Given the description of an element on the screen output the (x, y) to click on. 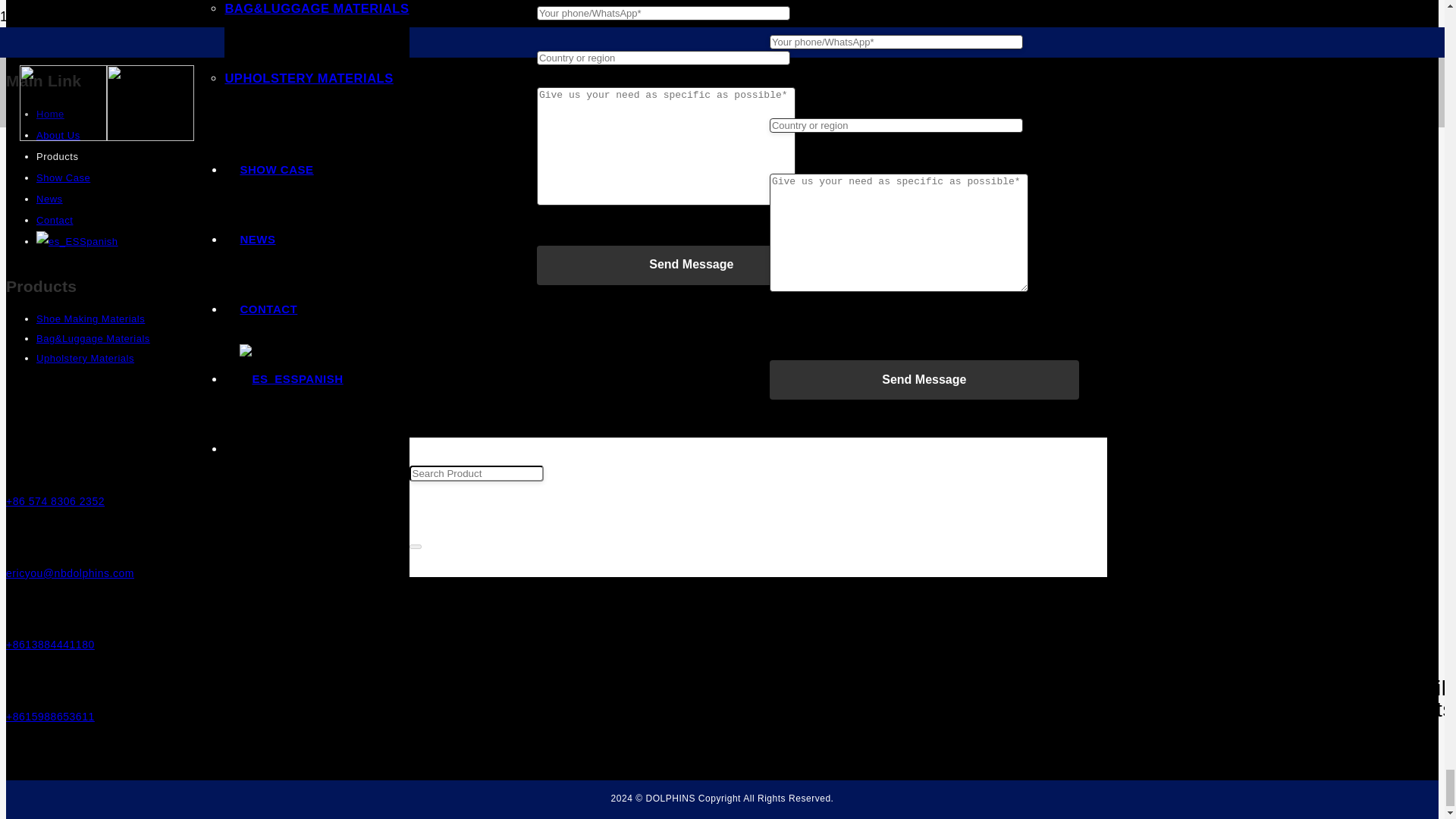
Spanish (58, 241)
